Given the description of an element on the screen output the (x, y) to click on. 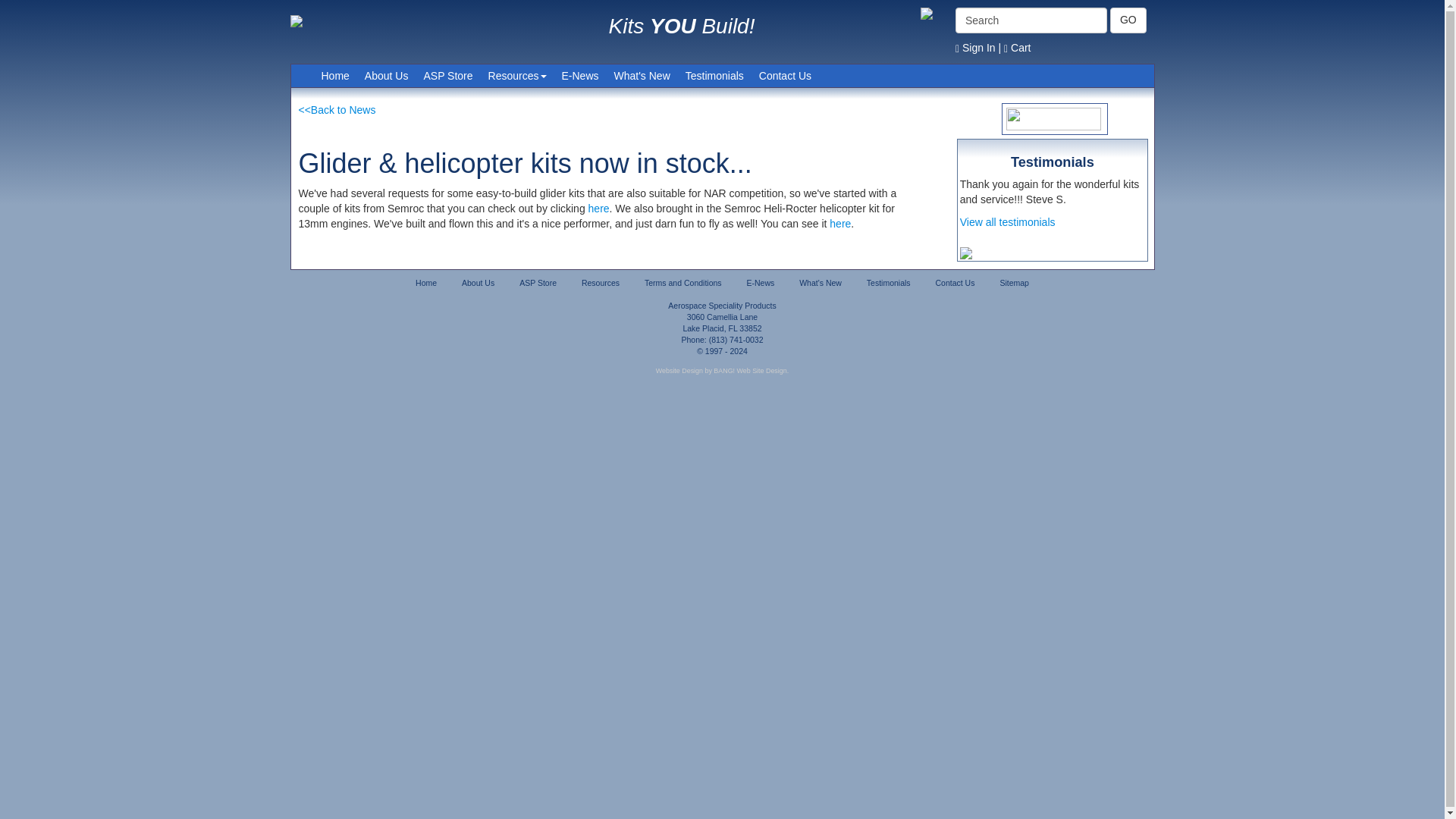
Sign In (975, 47)
What's New (642, 75)
About Us (386, 75)
GO (1128, 20)
Testimonials (888, 282)
E-News (760, 282)
What's New (820, 282)
ASP Store (447, 75)
Home (335, 75)
Testimonials (714, 75)
ASP Store (537, 282)
E-News (579, 75)
Cart (1017, 47)
Contact Us (784, 75)
Search (1030, 20)
